Given the description of an element on the screen output the (x, y) to click on. 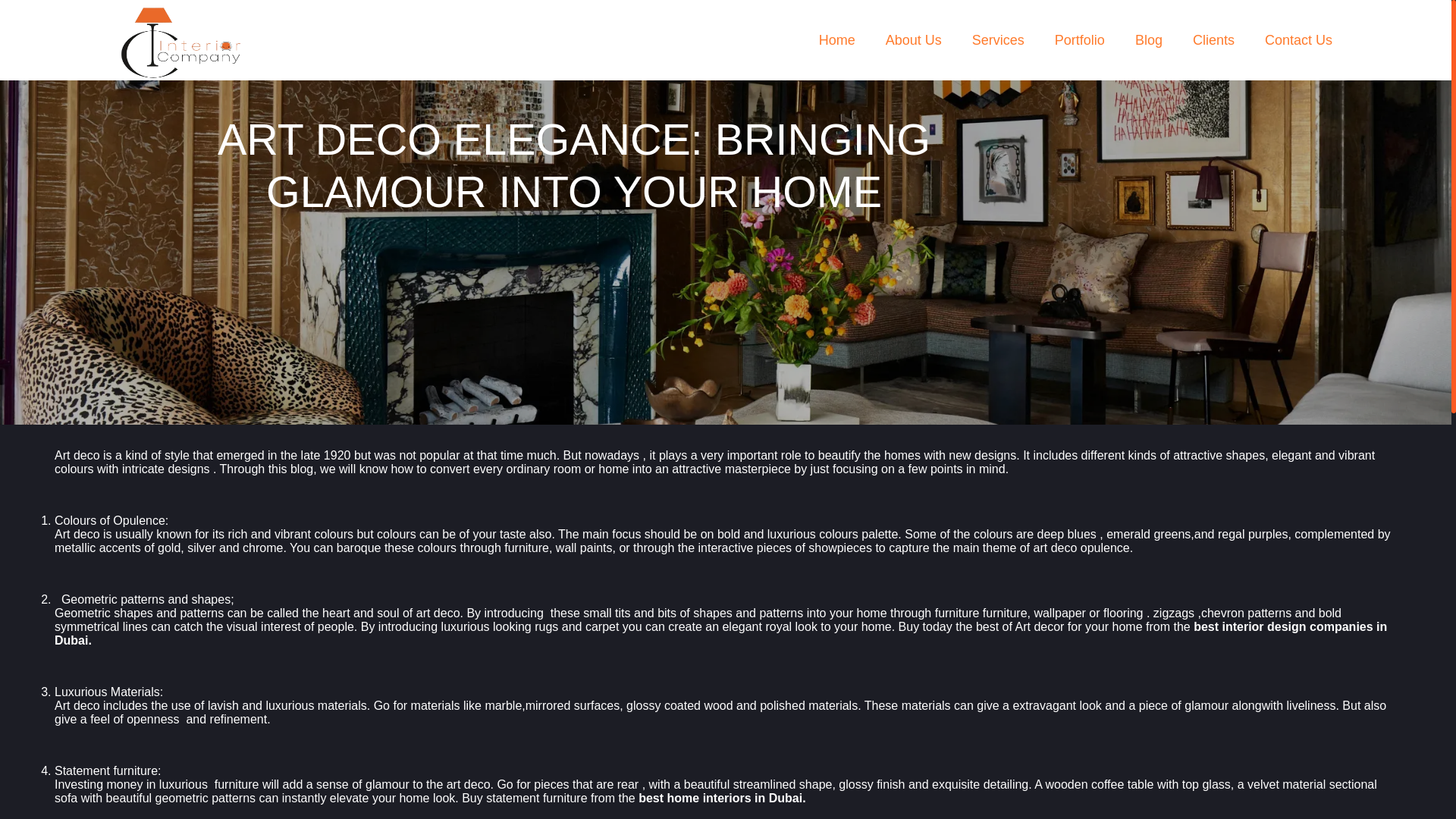
Services (998, 42)
Blog (1148, 42)
Contact Us (1298, 42)
Home (837, 42)
Clients (1213, 42)
Portfolio (1079, 42)
About Us (913, 42)
